Given the description of an element on the screen output the (x, y) to click on. 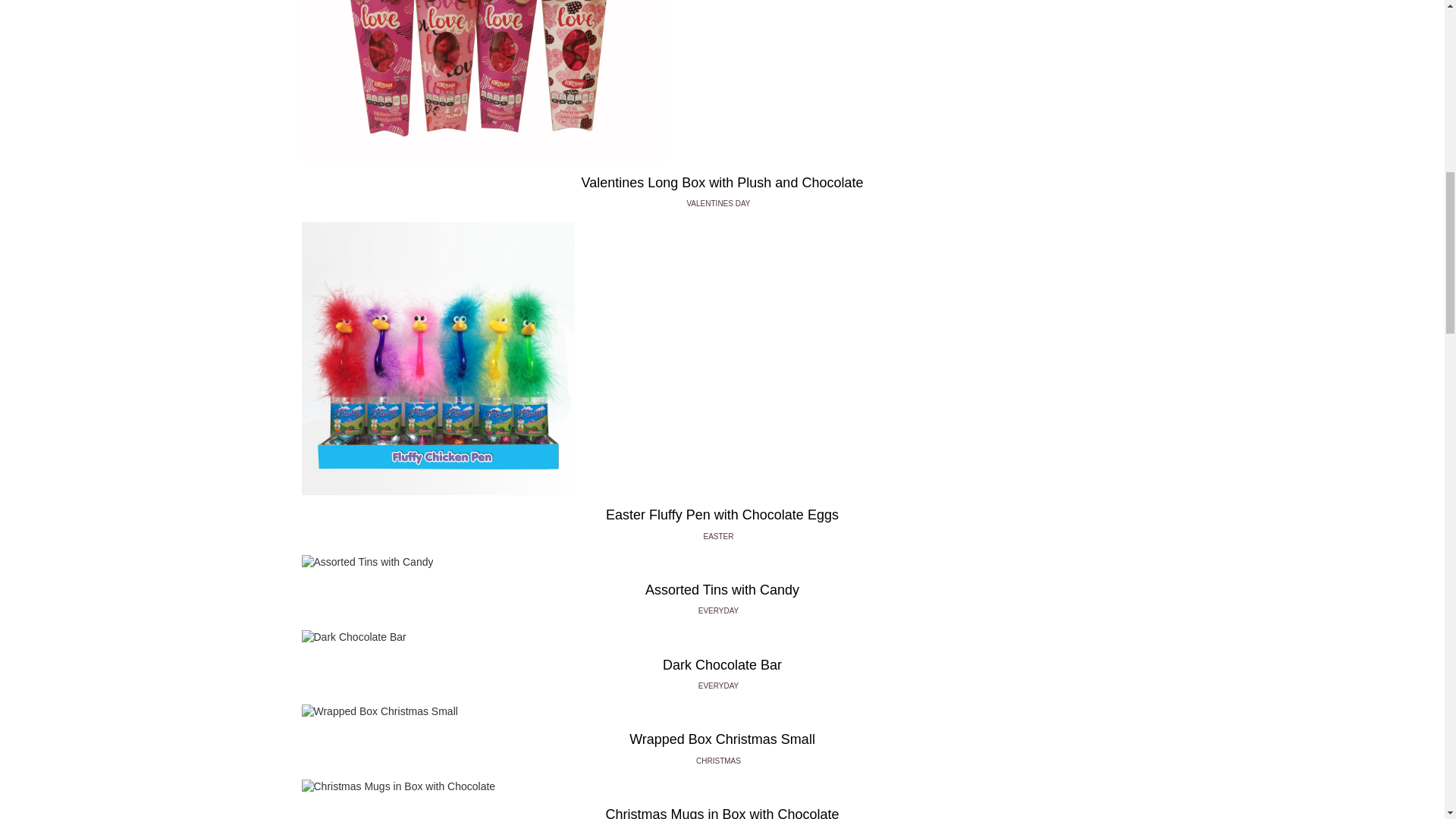
Christmas Mugs in Box with Chocolate (721, 812)
CHRISTMAS (721, 760)
Easter Fluffy Pen with Chocolate Eggs (721, 515)
VALENTINES DAY (721, 203)
Valentines Long Box with Plush and Chocolate (721, 182)
EVERYDAY (722, 685)
EVERYDAY (722, 610)
Assorted Tins with Candy (721, 589)
Wrapped Box Christmas Small (721, 739)
EASTER (722, 536)
